Given the description of an element on the screen output the (x, y) to click on. 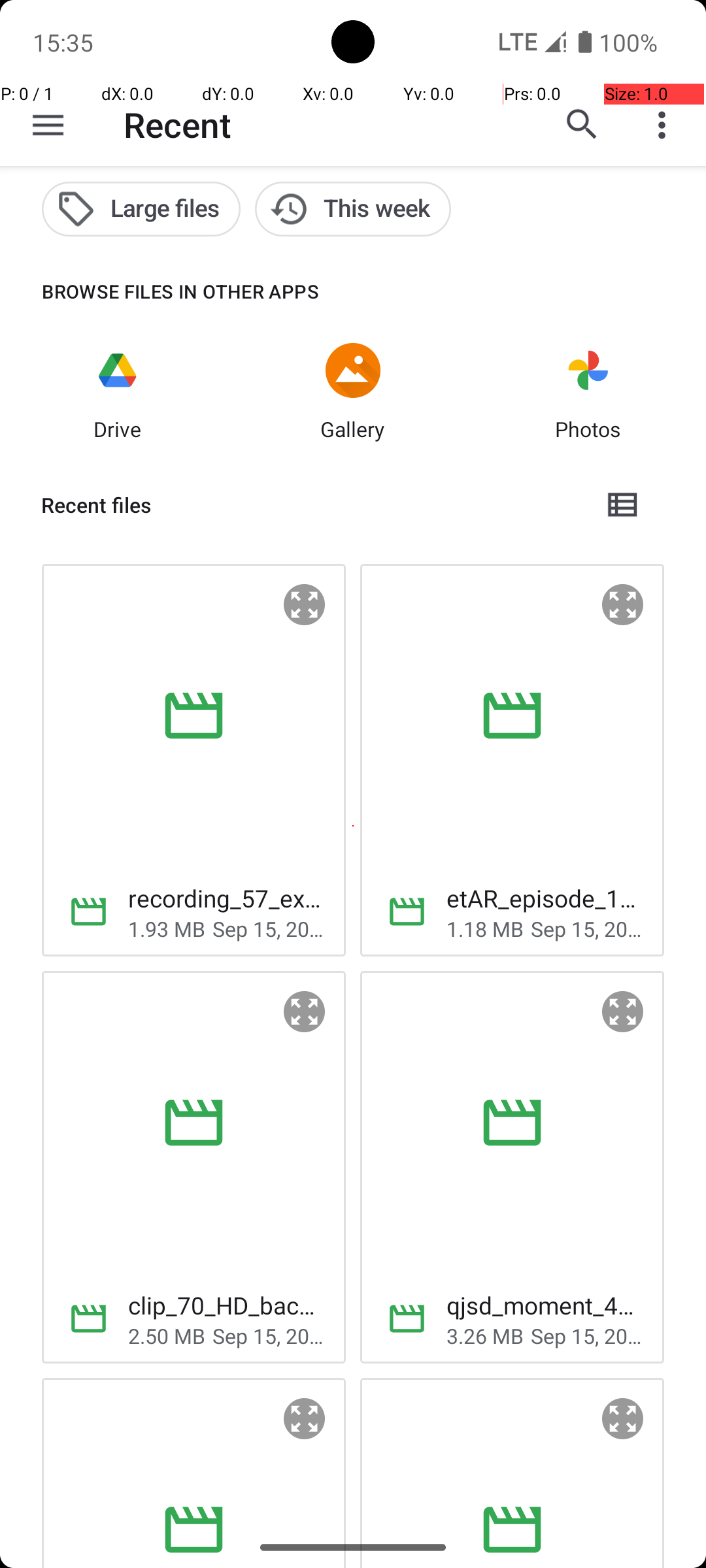
Preview the file recording_57_export_copy.mp4 Element type: android.widget.FrameLayout (304, 604)
recording_57_export_copy.mp4 Element type: android.widget.TextView (226, 897)
1.93 MB Element type: android.widget.TextView (166, 928)
Sep 15, 2024 Element type: android.widget.TextView (268, 928)
Preview the file etAR_episode_1_.mp4 Element type: android.widget.FrameLayout (622, 604)
etAR_episode_1_.mp4 Element type: android.widget.TextView (544, 897)
1.18 MB Element type: android.widget.TextView (484, 928)
Preview the file clip_70_HD_backup.mp4 Element type: android.widget.FrameLayout (304, 1011)
clip_70_HD_backup.mp4 Element type: android.widget.TextView (226, 1304)
2.50 MB Element type: android.widget.TextView (166, 1335)
Preview the file qjsd_moment_49_4K.mp4 Element type: android.widget.FrameLayout (622, 1011)
qjsd_moment_49_4K.mp4 Element type: android.widget.TextView (544, 1304)
3.26 MB Element type: android.widget.TextView (484, 1335)
Preview the file edited_scene_45_.mp4 Element type: android.widget.FrameLayout (304, 1418)
Preview the file moment_25_raw_2023_06_08.mp4 Element type: android.widget.FrameLayout (622, 1418)
